Given the description of an element on the screen output the (x, y) to click on. 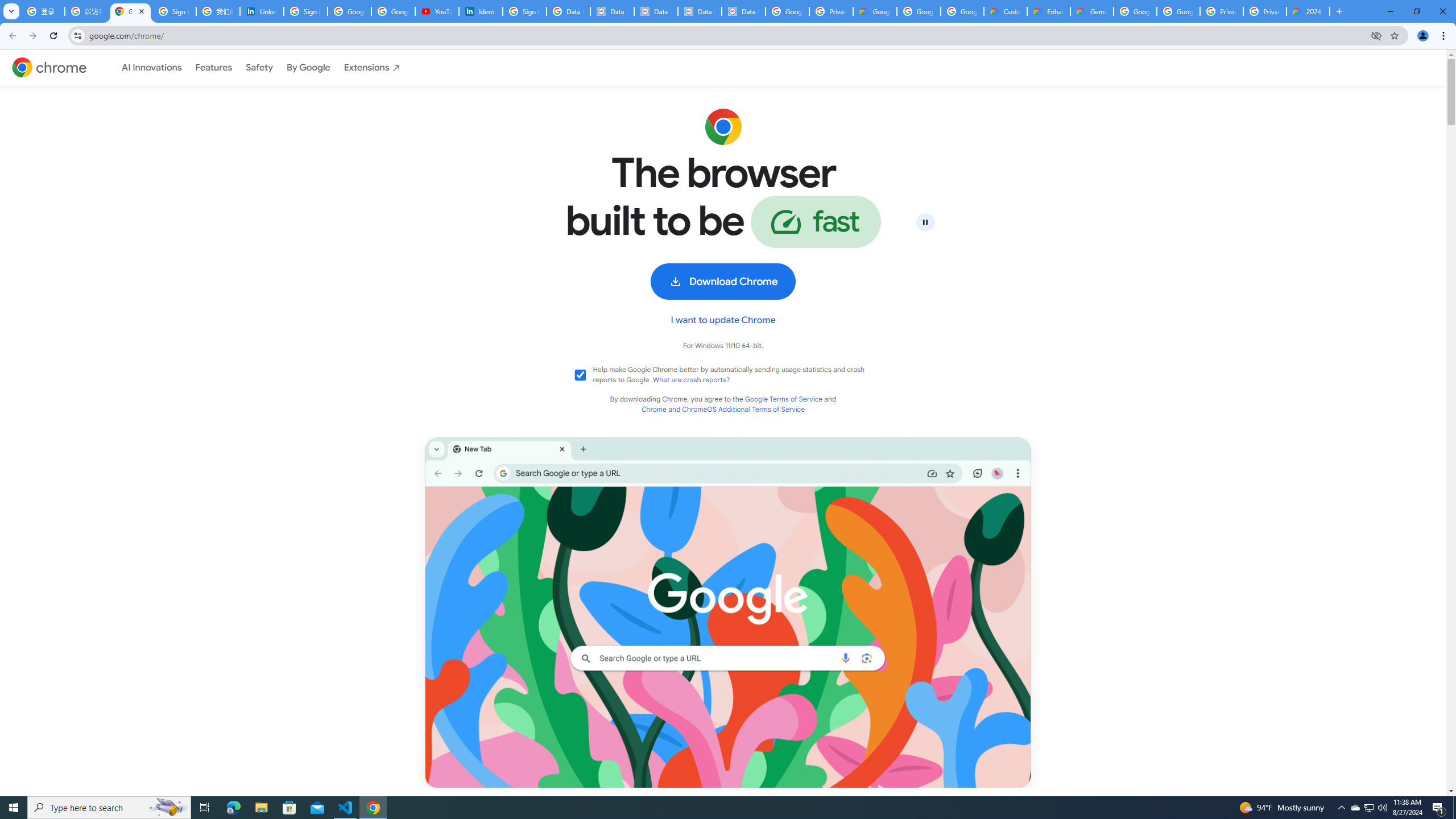
extensions (371, 67)
Google Chrome logo. (722, 126)
icon chrome logo (49, 67)
Sign in - Google Accounts (173, 11)
LinkedIn Privacy Policy (261, 11)
